Given the description of an element on the screen output the (x, y) to click on. 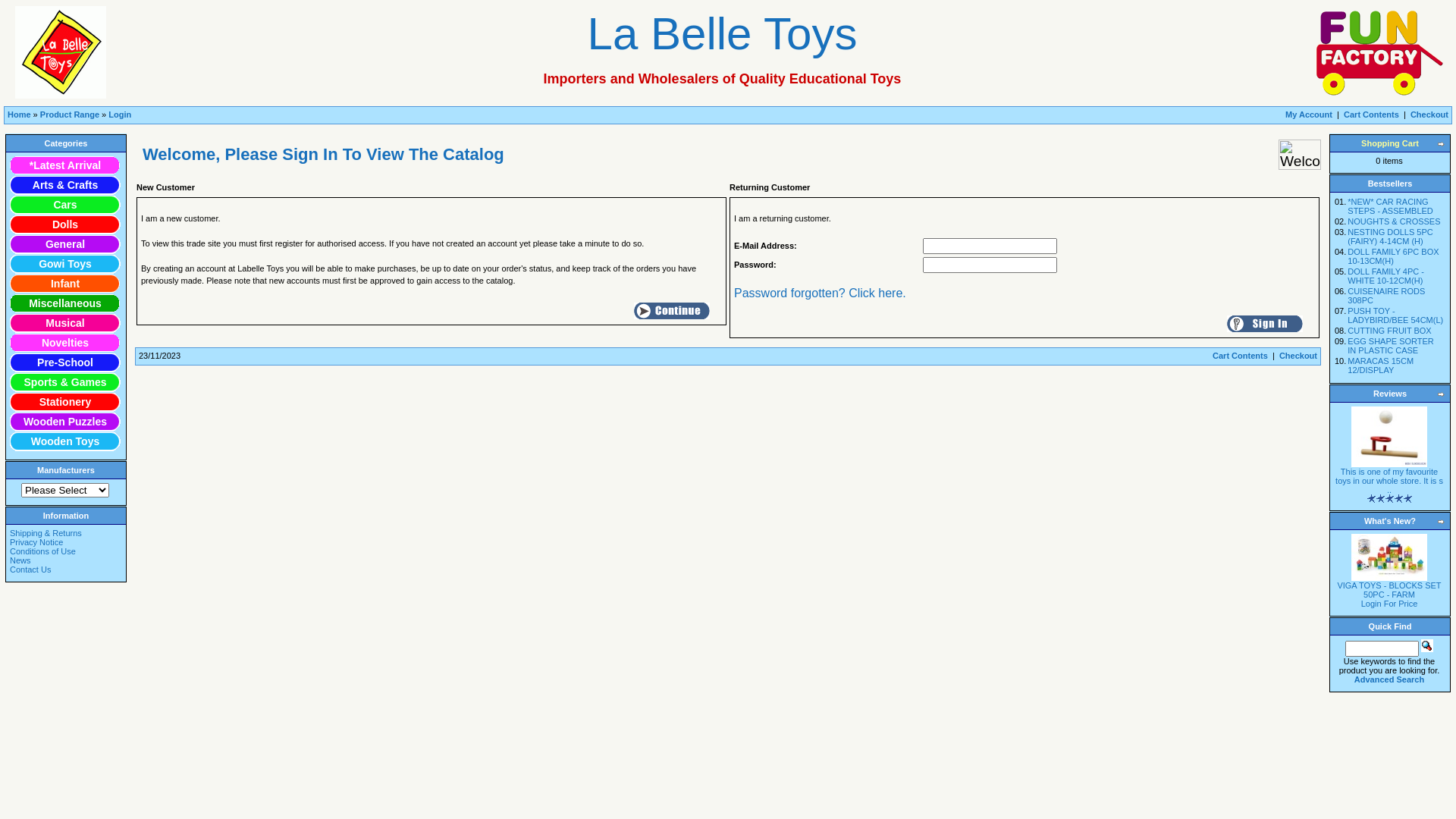
Dolls Element type: text (64, 224)
EGG SHAPE SORTER IN PLASTIC CASE Element type: text (1390, 345)
NOUGHTS & CROSSES Element type: text (1393, 220)
My Account Element type: text (1308, 114)
General Element type: text (64, 244)
*NEW* CAR RACING STEPS - ASSEMBLED Element type: text (1389, 206)
Login For Price Element type: text (1389, 603)
Advanced Search Element type: text (1389, 679)
BALL BLOWER WOODEN W/2 BALLS Element type: hover (1389, 436)
Product Range Element type: text (69, 114)
Infant Element type: text (64, 283)
Shipping & Returns Element type: text (64, 532)
Sports & Games Element type: text (64, 382)
Home Element type: text (19, 114)
Password forgotten? Click here. Element type: text (820, 292)
Cart Contents Element type: text (1239, 355)
 more  Element type: hover (1441, 521)
Gowi Toys Element type: text (64, 263)
Conditions of Use Element type: text (64, 550)
Checkout Element type: text (1298, 355)
Checkout Element type: text (1429, 114)
Miscellaneous Element type: text (64, 303)
Continue Element type: hover (671, 309)
News Element type: text (64, 559)
NESTING DOLLS 5PC (FAIRY) 4-14CM (H) Element type: text (1389, 236)
Cars Element type: text (64, 204)
Cart Contents Element type: text (1371, 114)
 more  Element type: hover (1441, 143)
Login Element type: text (119, 114)
DOLL FAMILY 4PC - WHITE 10-12CM(H) Element type: text (1385, 275)
 Sign In  Element type: hover (1264, 323)
Wooden Puzzles Element type: text (64, 421)
Contact Us Element type: text (64, 569)
5 of 5 Stars! Element type: hover (1388, 498)
 Quick Find  Element type: hover (1427, 645)
Pre-School Element type: text (64, 362)
DOLL FAMILY 6PC BOX 10-13CM(H) Element type: text (1392, 256)
Novelties Element type: text (64, 342)
Privacy Notice Element type: text (64, 541)
CUISENAIRE RODS 308PC Element type: text (1385, 295)
CUTTING FRUIT BOX Element type: text (1388, 330)
VIGA TOYS - BLOCKS SET 50PC - FARM Element type: text (1388, 589)
MARACAS 15CM 12/DISPLAY Element type: text (1380, 365)
Musical Element type: text (64, 322)
Wooden Toys Element type: text (64, 441)
*Latest Arrival Element type: text (64, 165)
Arts & Crafts Element type: text (64, 184)
Welcome, Please Sign In To View The Catalog Element type: hover (1299, 154)
 more  Element type: hover (1441, 394)
Stationery Element type: text (64, 401)
VIGA TOYS - BLOCKS SET 50PC - FARM Element type: hover (1389, 556)
PUSH TOY - LADYBIRD/BEE 54CM(L) Element type: text (1395, 315)
